Given the description of an element on the screen output the (x, y) to click on. 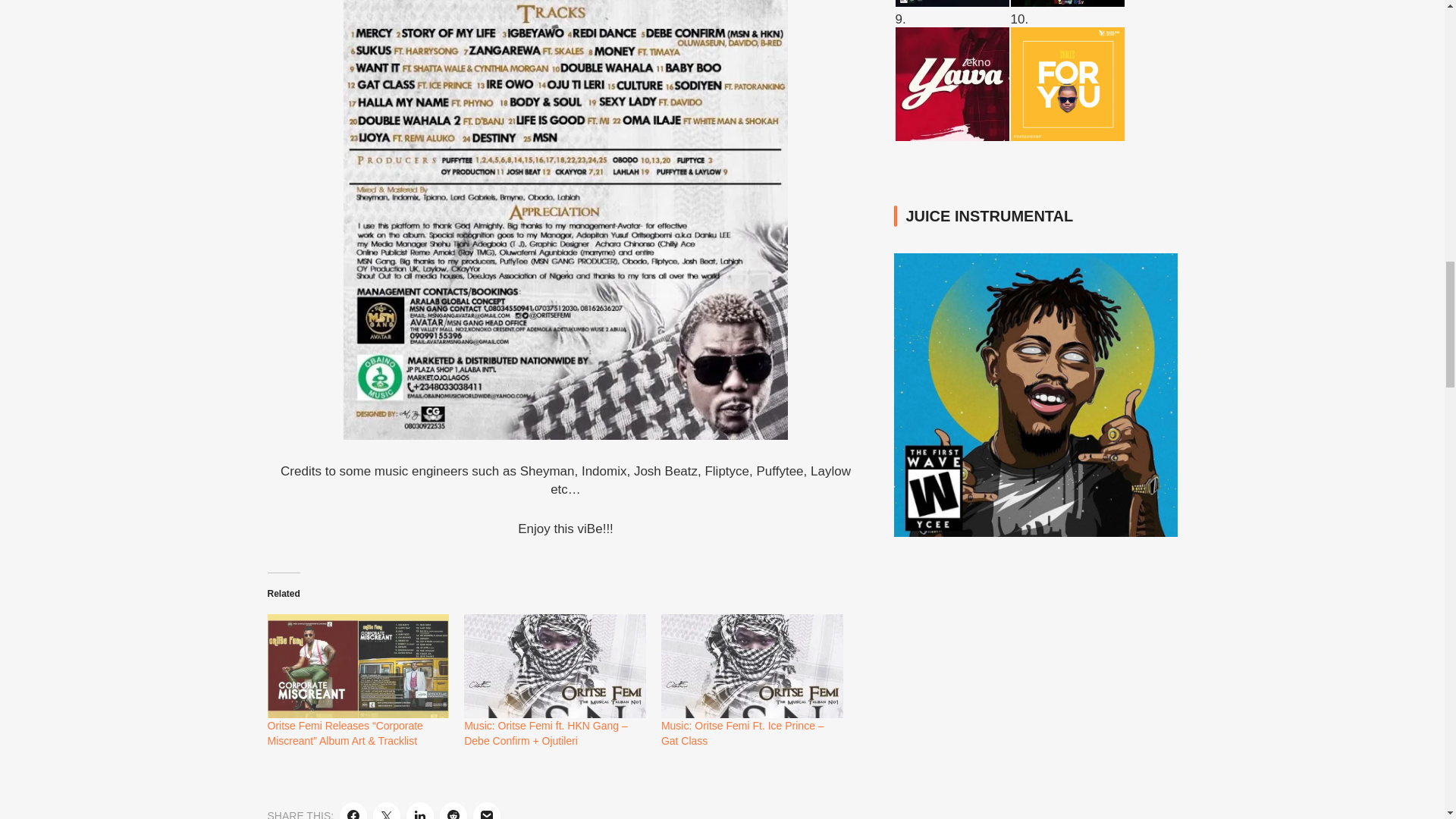
Share via Email (486, 810)
Share On LinkedIn (419, 810)
Share On Reddit (453, 810)
Share On Twitter (386, 810)
Share On Facebook (352, 810)
